Given the description of an element on the screen output the (x, y) to click on. 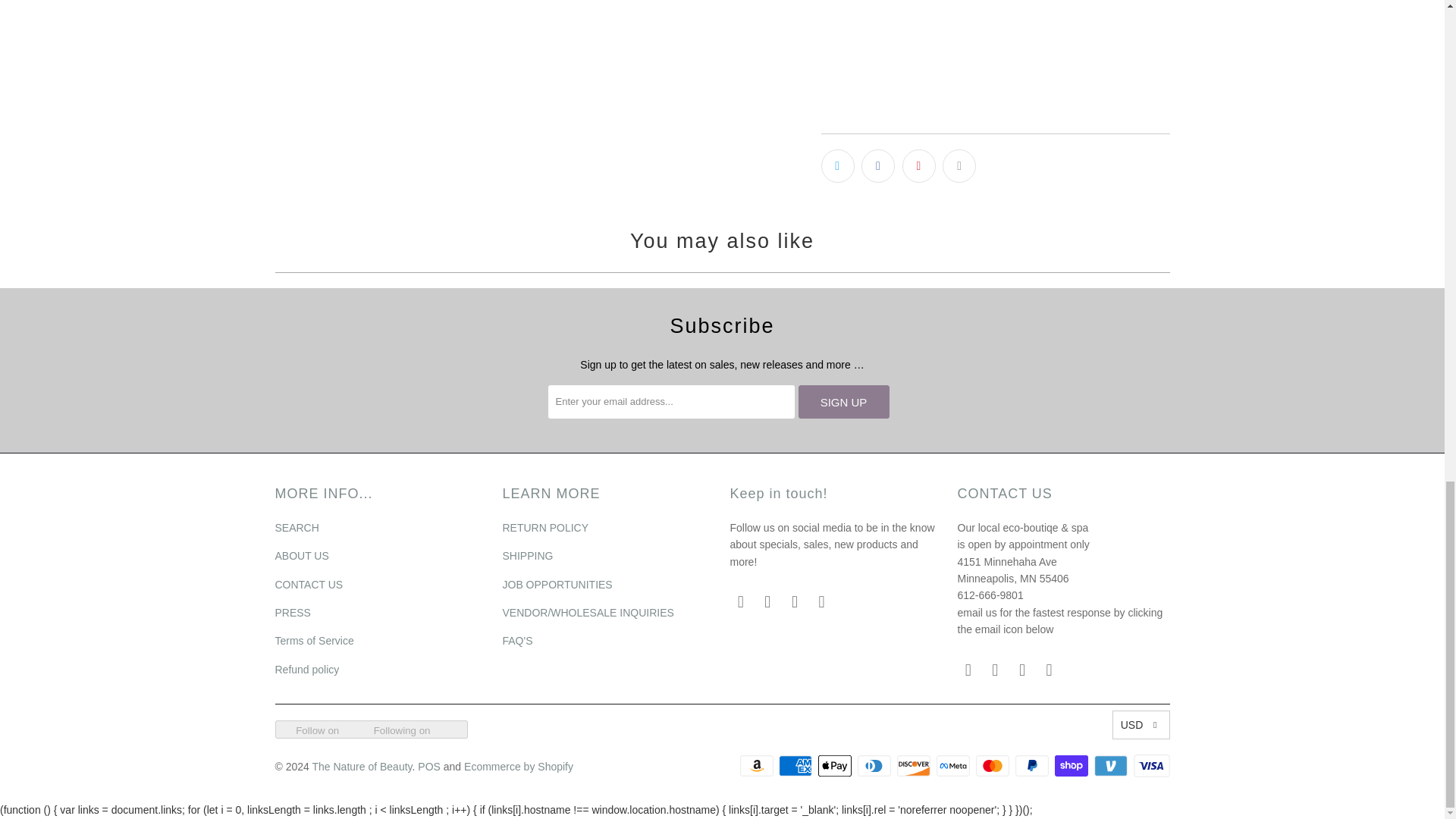
The Nature of Beauty on Pinterest (821, 601)
The Nature of Beauty on Instagram (795, 601)
American Express (796, 765)
The Nature of Beauty on Facebook (767, 601)
Meta Pay (954, 765)
Discover (914, 765)
Apple Pay (836, 765)
Share this on Twitter (837, 165)
Share this on Facebook (878, 165)
Email The Nature of Beauty (740, 601)
